Given the description of an element on the screen output the (x, y) to click on. 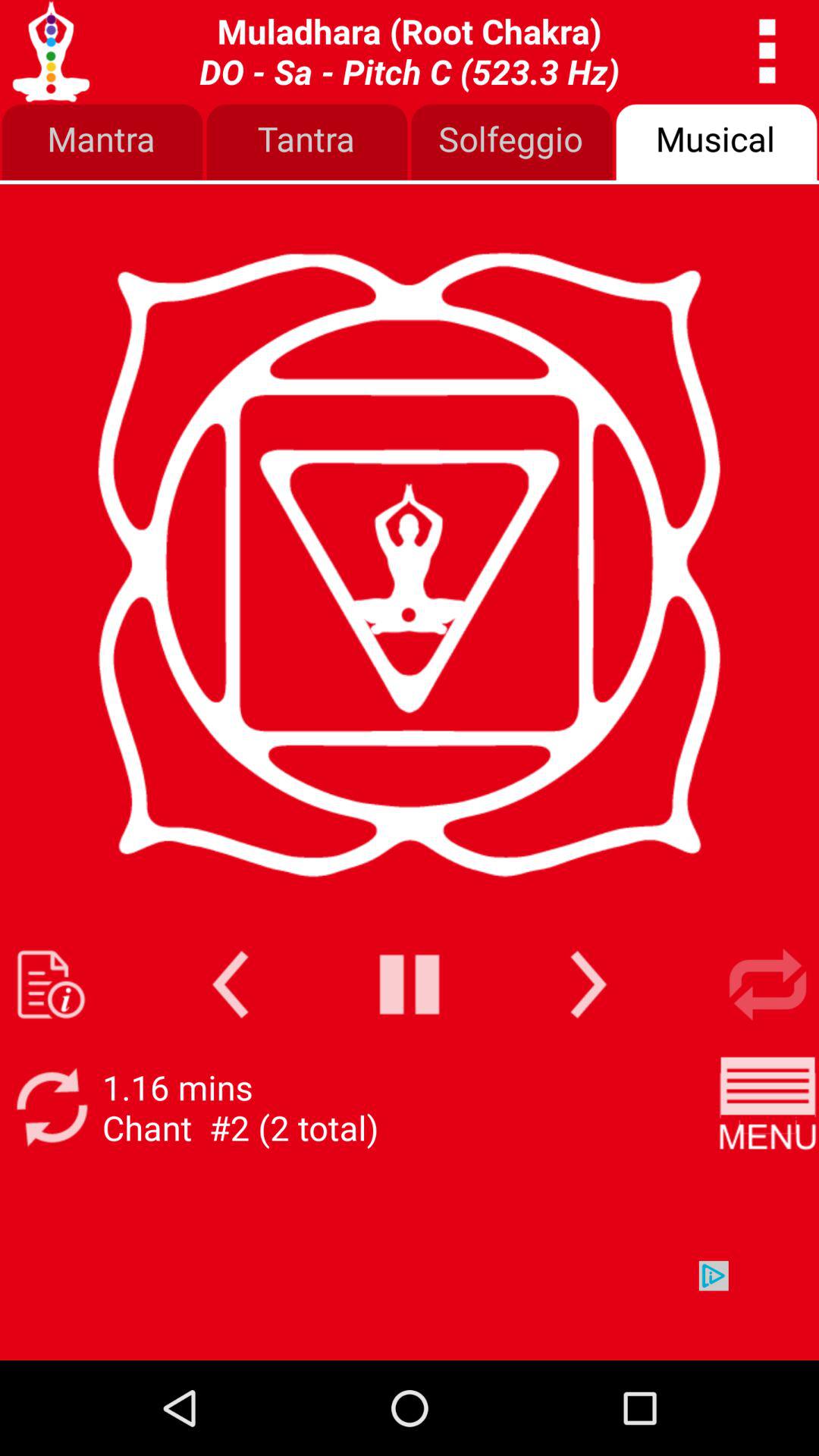
click the item next to solfeggio item (306, 143)
